Given the description of an element on the screen output the (x, y) to click on. 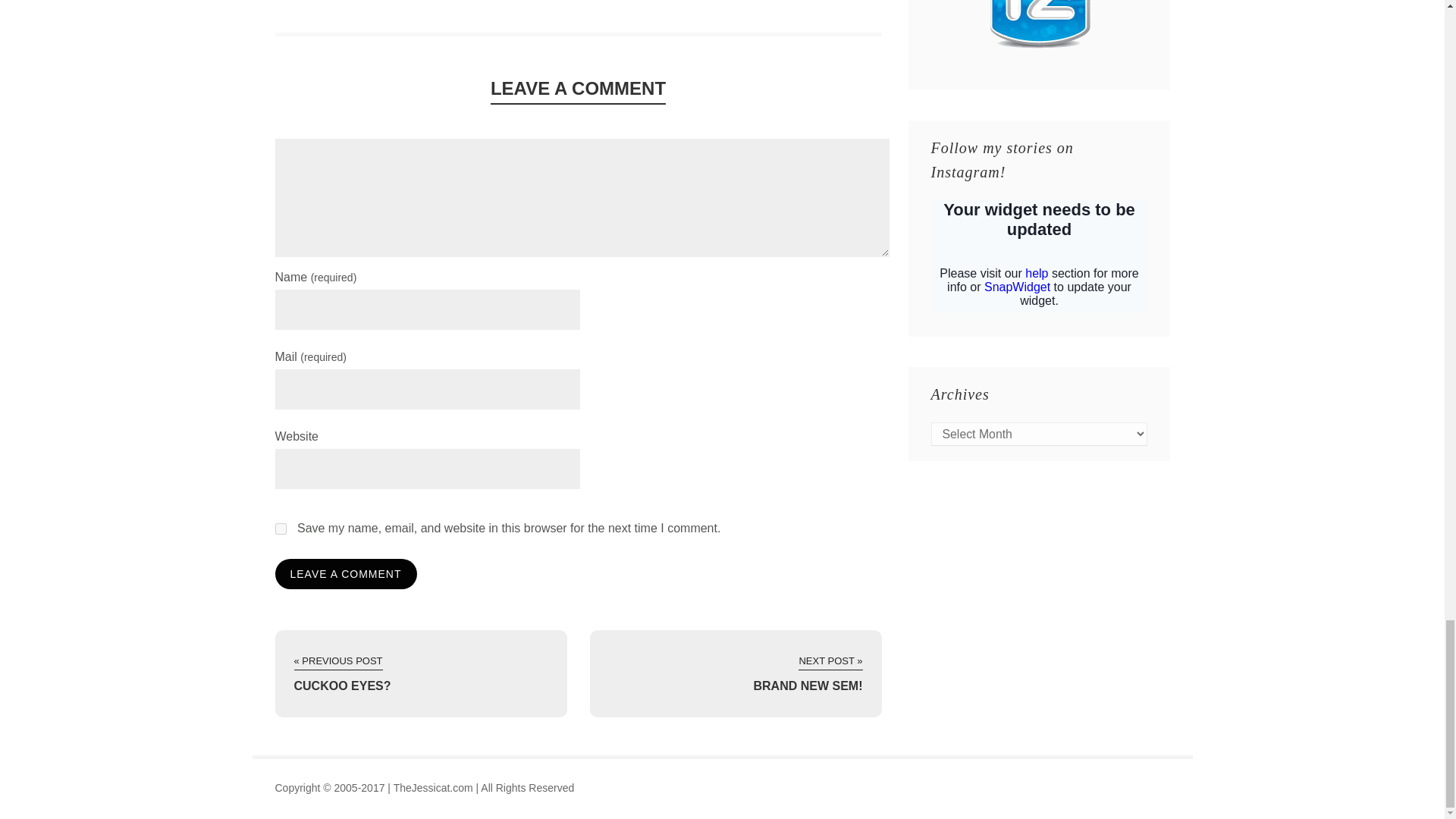
yes (280, 528)
Leave a Comment (345, 573)
